Given the description of an element on the screen output the (x, y) to click on. 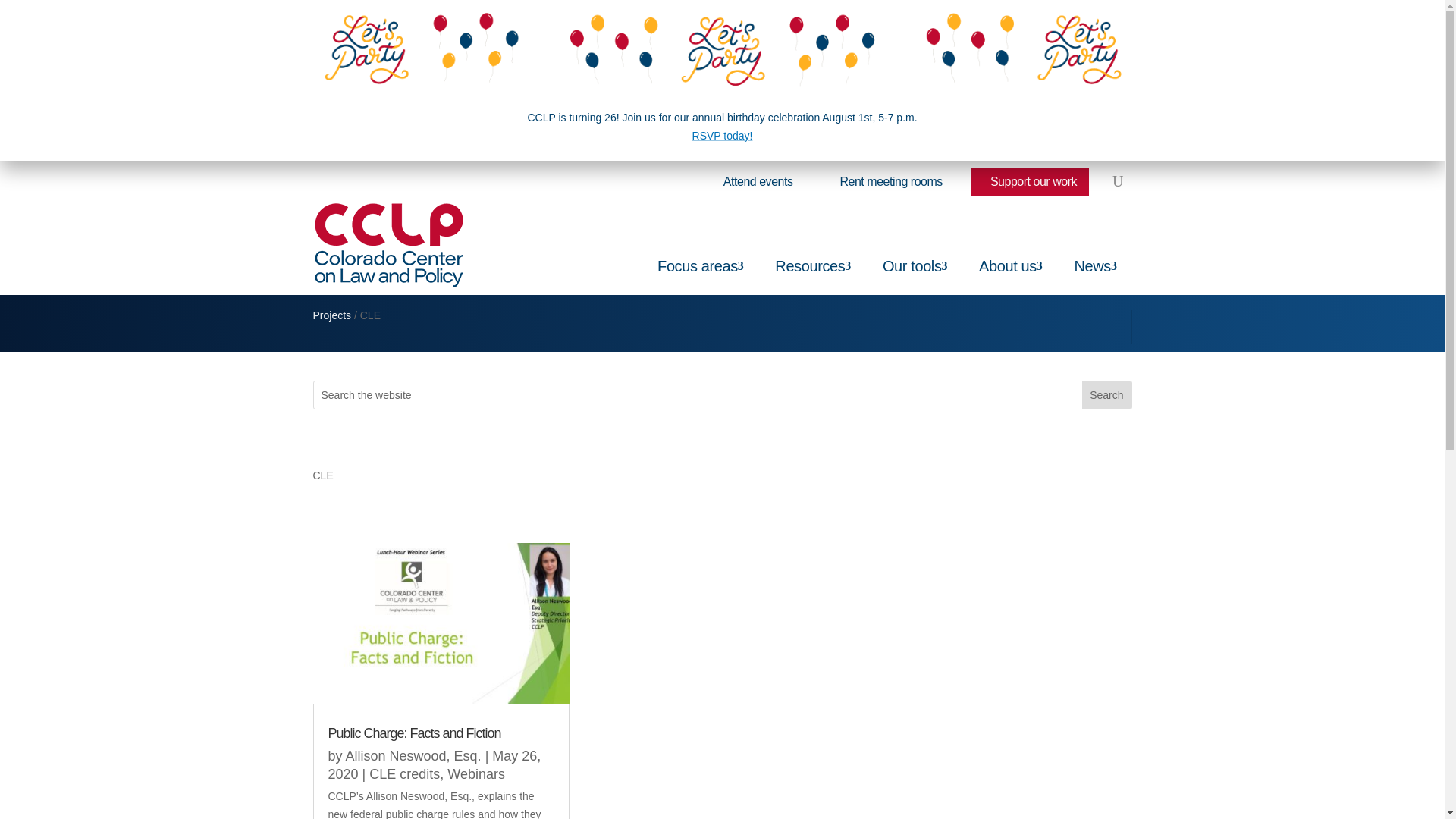
Our tools (922, 244)
Resources (820, 244)
RSVP today! (722, 135)
Attend events (754, 181)
News (1102, 244)
Posts by Allison Neswood, Esq. (413, 755)
Support our work (1030, 181)
Rent meeting rooms (887, 181)
Focus areas (708, 244)
Search (1106, 394)
Search (1106, 394)
About us (1017, 244)
Go to Projects. (331, 315)
